Given the description of an element on the screen output the (x, y) to click on. 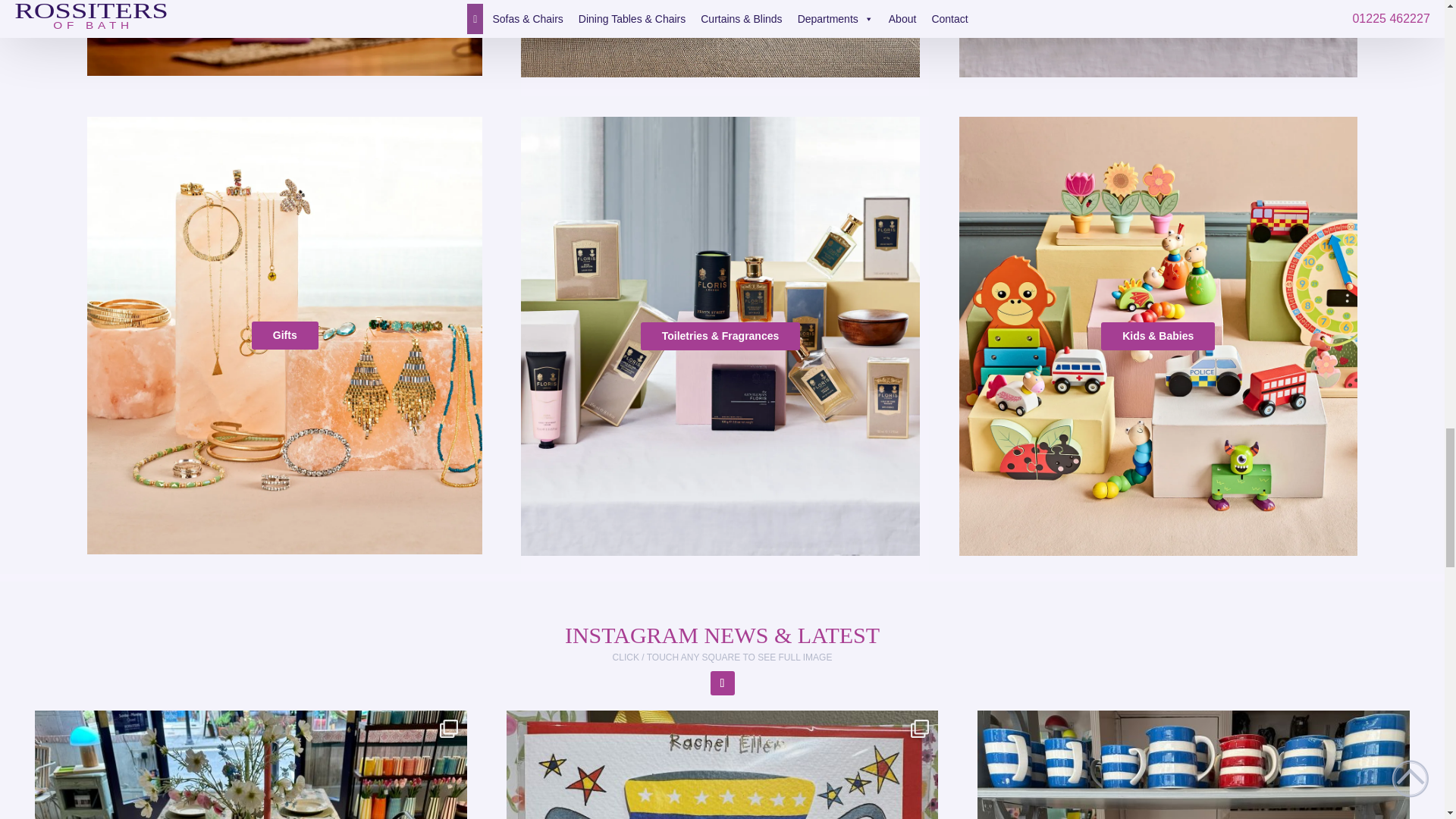
Follow on Instagram (721, 682)
